Given the description of an element on the screen output the (x, y) to click on. 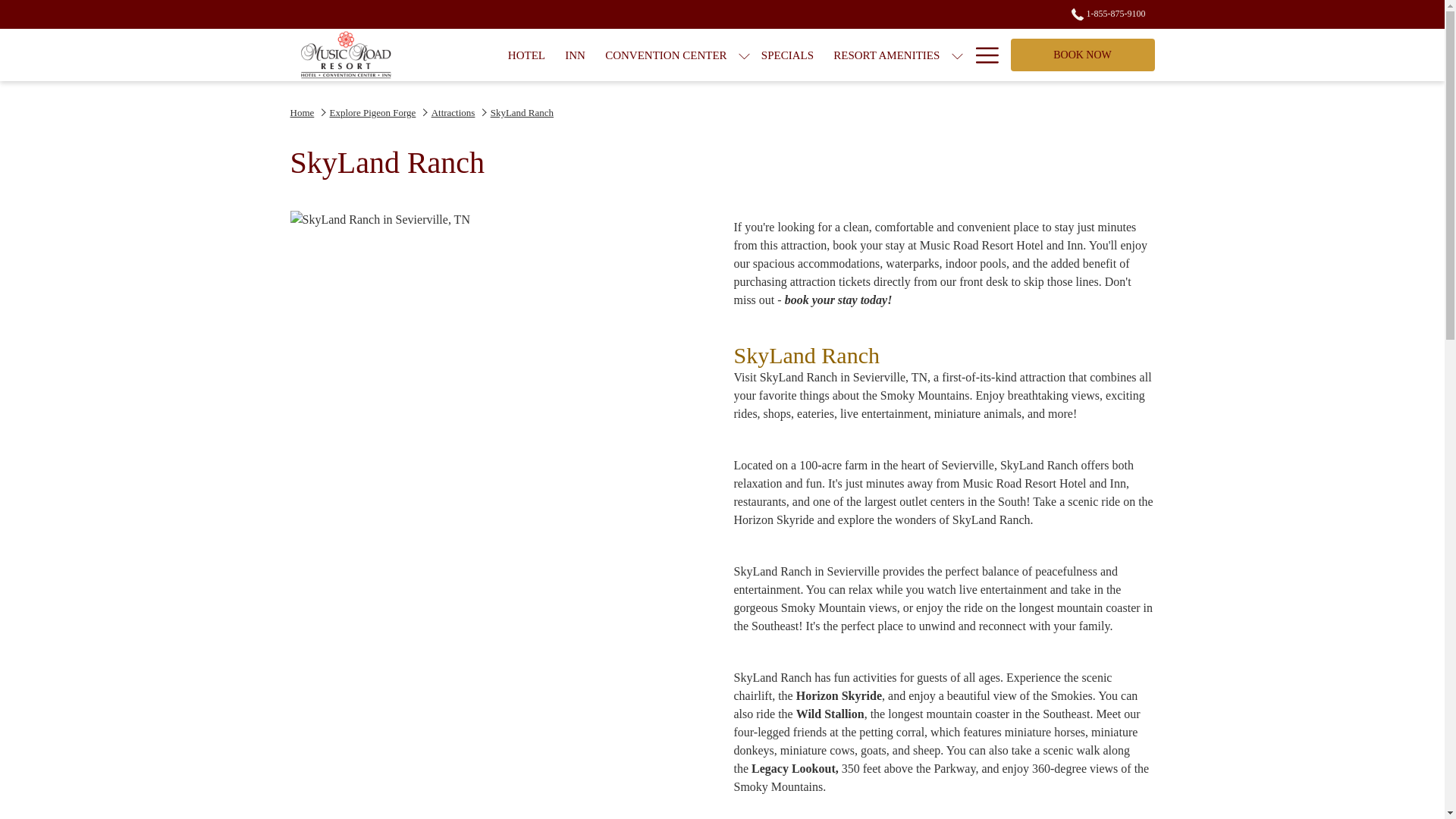
Explore Pigeon Forge (980, 54)
1-855-875-9100 (373, 112)
SkyLand Ranch (1103, 13)
INN (521, 112)
SPECIALS (574, 54)
BOOK NOW (787, 54)
Menu (1082, 54)
HOTEL (986, 55)
Attractions (525, 54)
Home (453, 112)
Back to the homepage (301, 112)
RESORT AMENITIES (345, 54)
CONVENTION CENTER (886, 54)
